Given the description of an element on the screen output the (x, y) to click on. 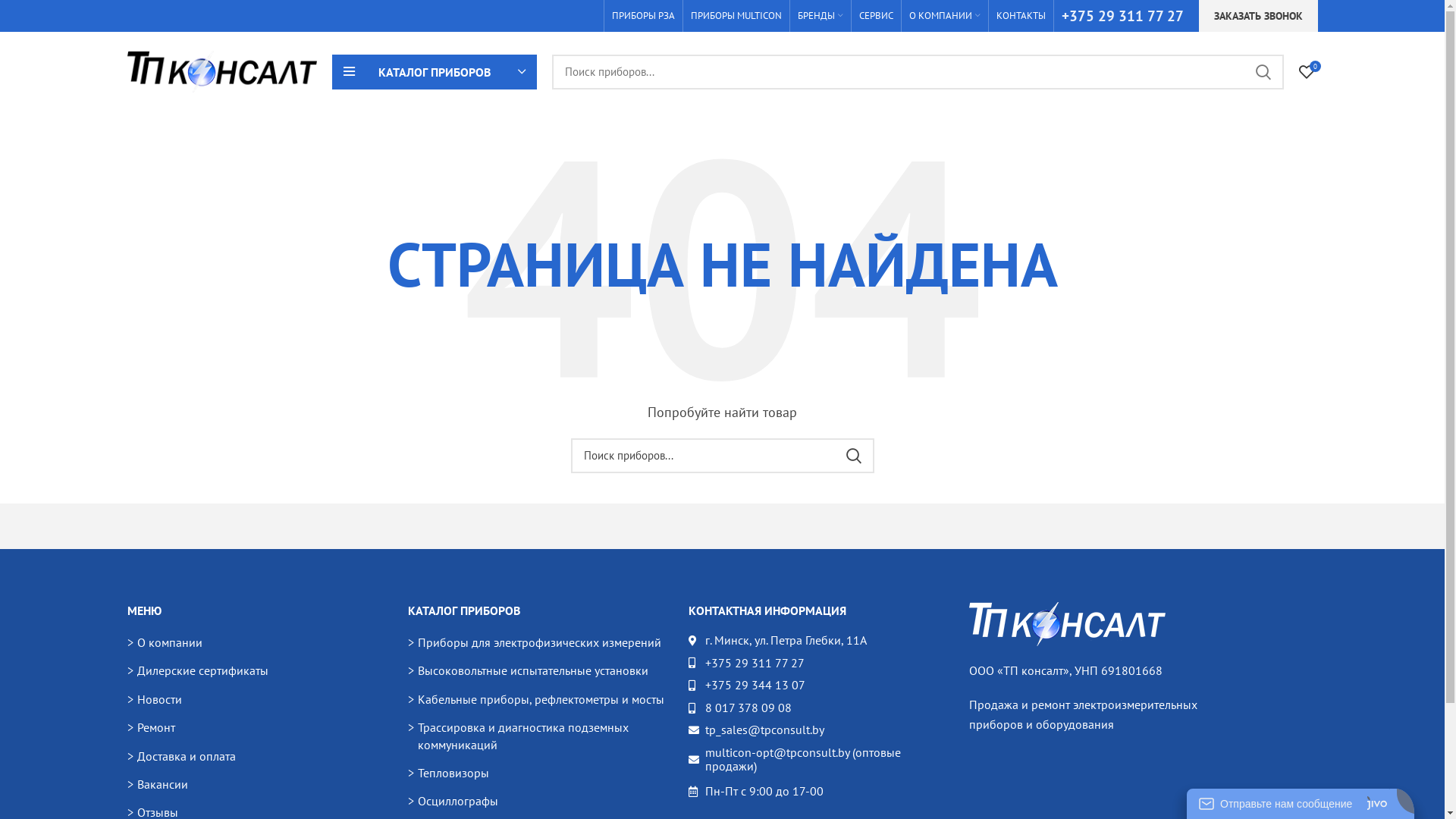
0 Element type: text (1305, 71)
+375 29 311 77 27 Element type: text (817, 663)
tp_sales@tpconsult.by Element type: text (817, 730)
8 017 378 09 08 Element type: text (817, 708)
SEARCH Element type: text (1262, 71)
SEARCH Element type: text (853, 455)
+375 29 311 77 27 Element type: text (1122, 15)
+375 29 344 13 07 Element type: text (817, 685)
